Given the description of an element on the screen output the (x, y) to click on. 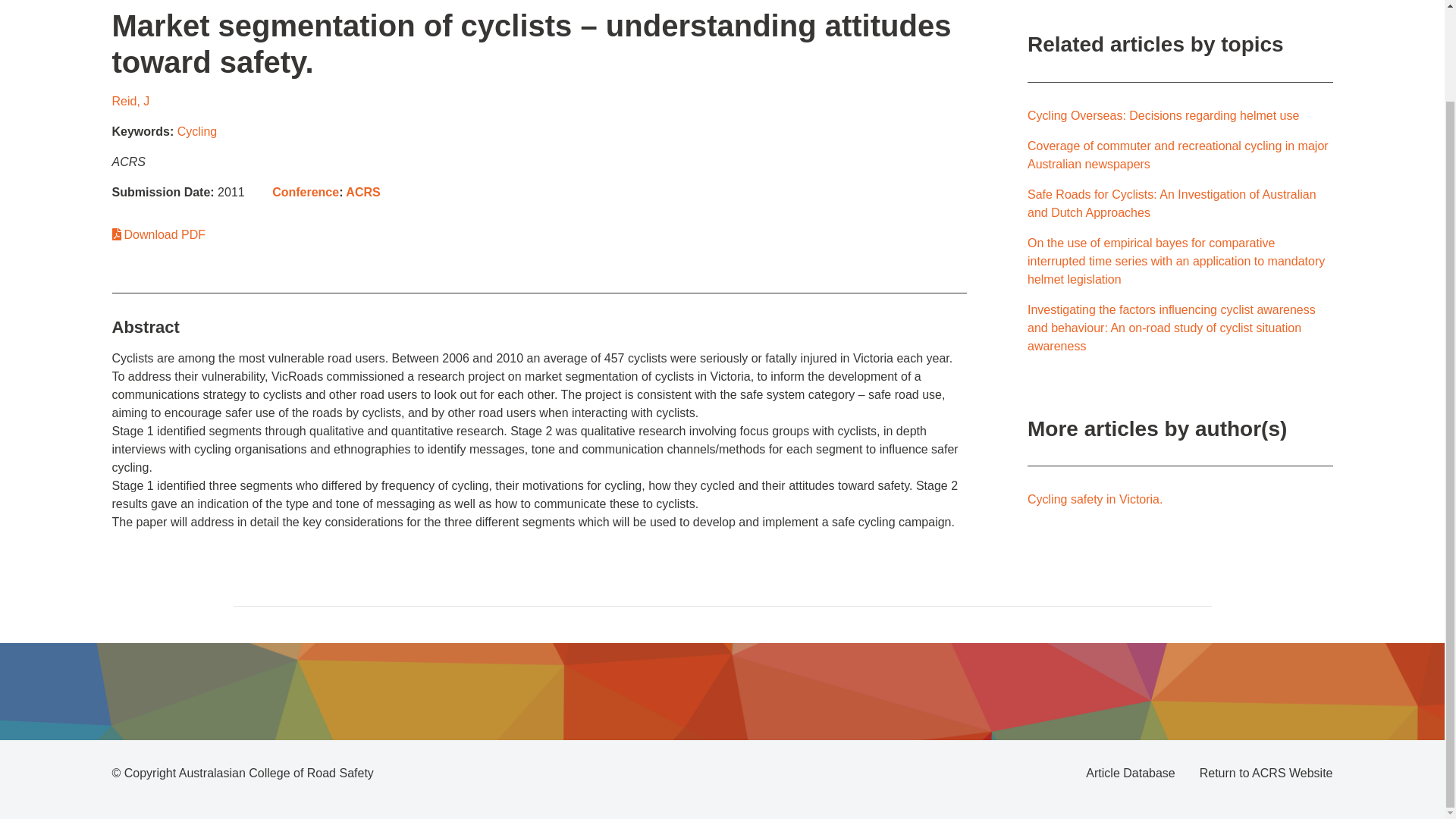
Australasian College of Road Safety (276, 772)
Cycling Overseas: Decisions regarding helmet use (1162, 115)
ACRS (363, 192)
Cycling safety in Victoria. (1094, 499)
Download PDF (159, 234)
Reid, J (130, 101)
Article Database (1130, 773)
Return to ACRS Website (1266, 773)
Conference (305, 192)
Cycling (196, 131)
